Given the description of an element on the screen output the (x, y) to click on. 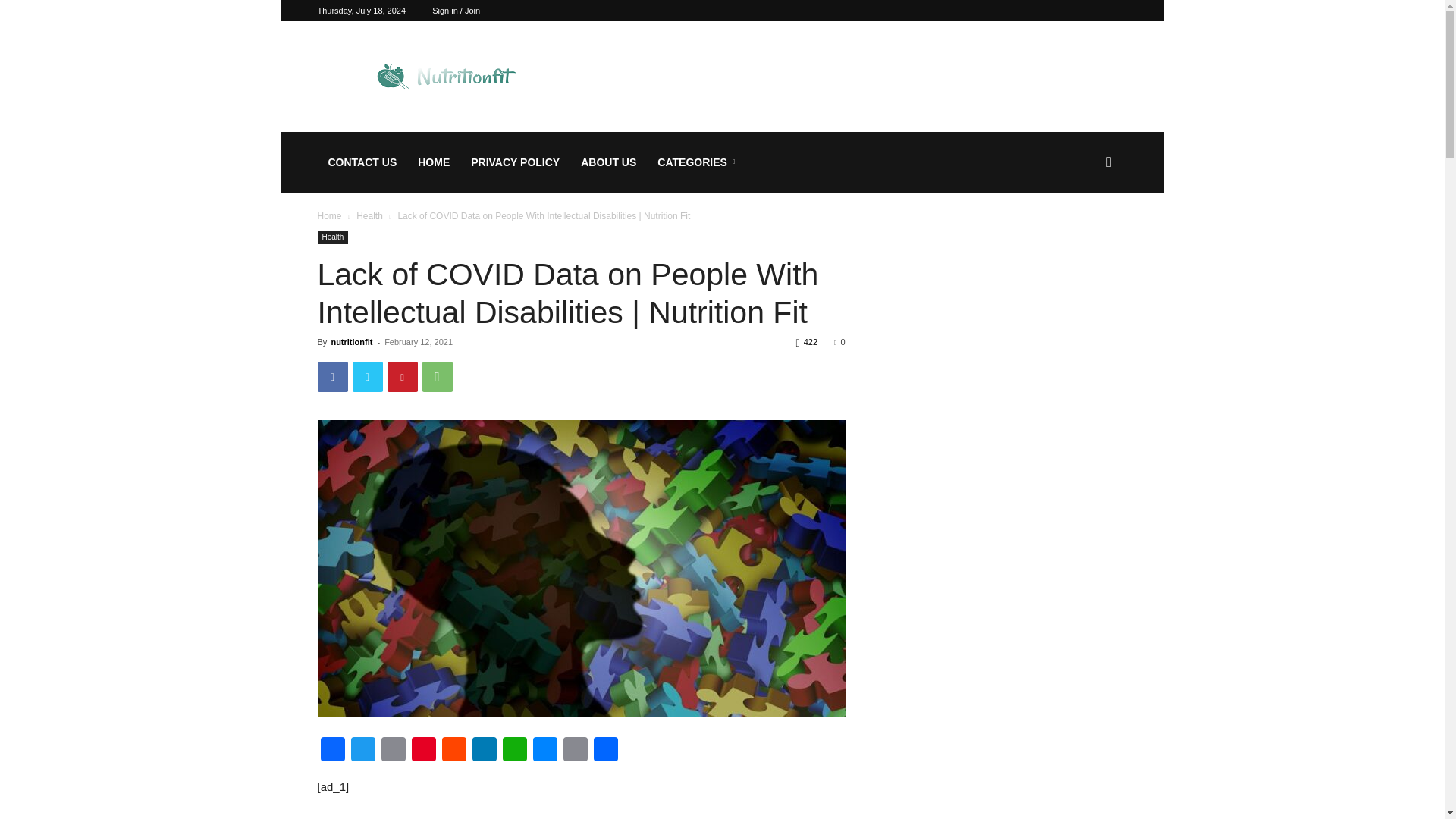
Twitter (362, 750)
Search (1085, 234)
WhatsApp (436, 376)
Reddit (453, 750)
Health (332, 237)
Twitter (366, 376)
LinkedIn (483, 750)
nutritionfit (351, 341)
Pinterest (401, 376)
Messenger (544, 750)
ABOUT US (608, 161)
WhatsApp (514, 750)
CATEGORIES (698, 161)
Pinterest (422, 750)
CONTACT US (362, 161)
